Given the description of an element on the screen output the (x, y) to click on. 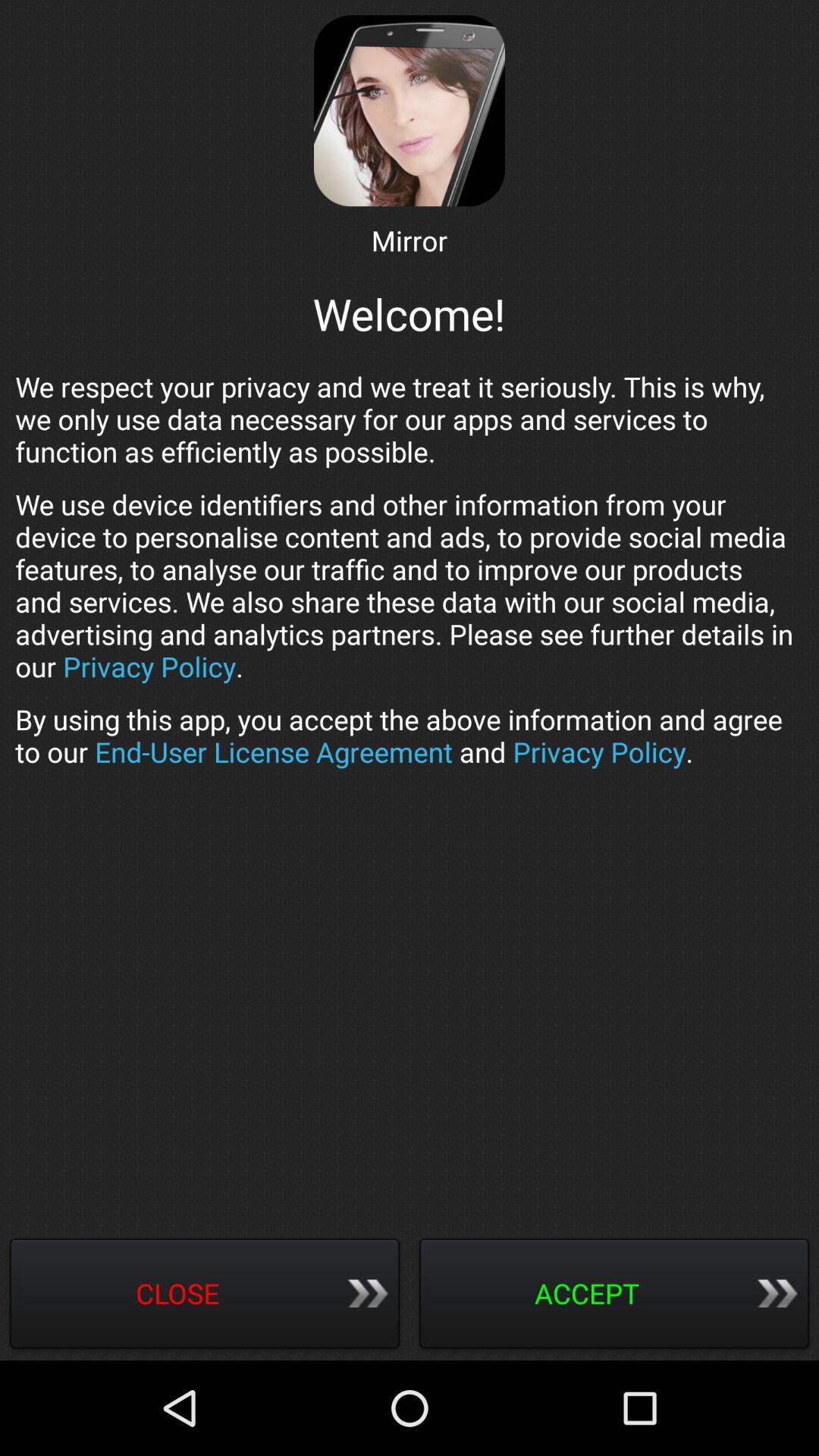
launch item next to the accept icon (204, 1295)
